Given the description of an element on the screen output the (x, y) to click on. 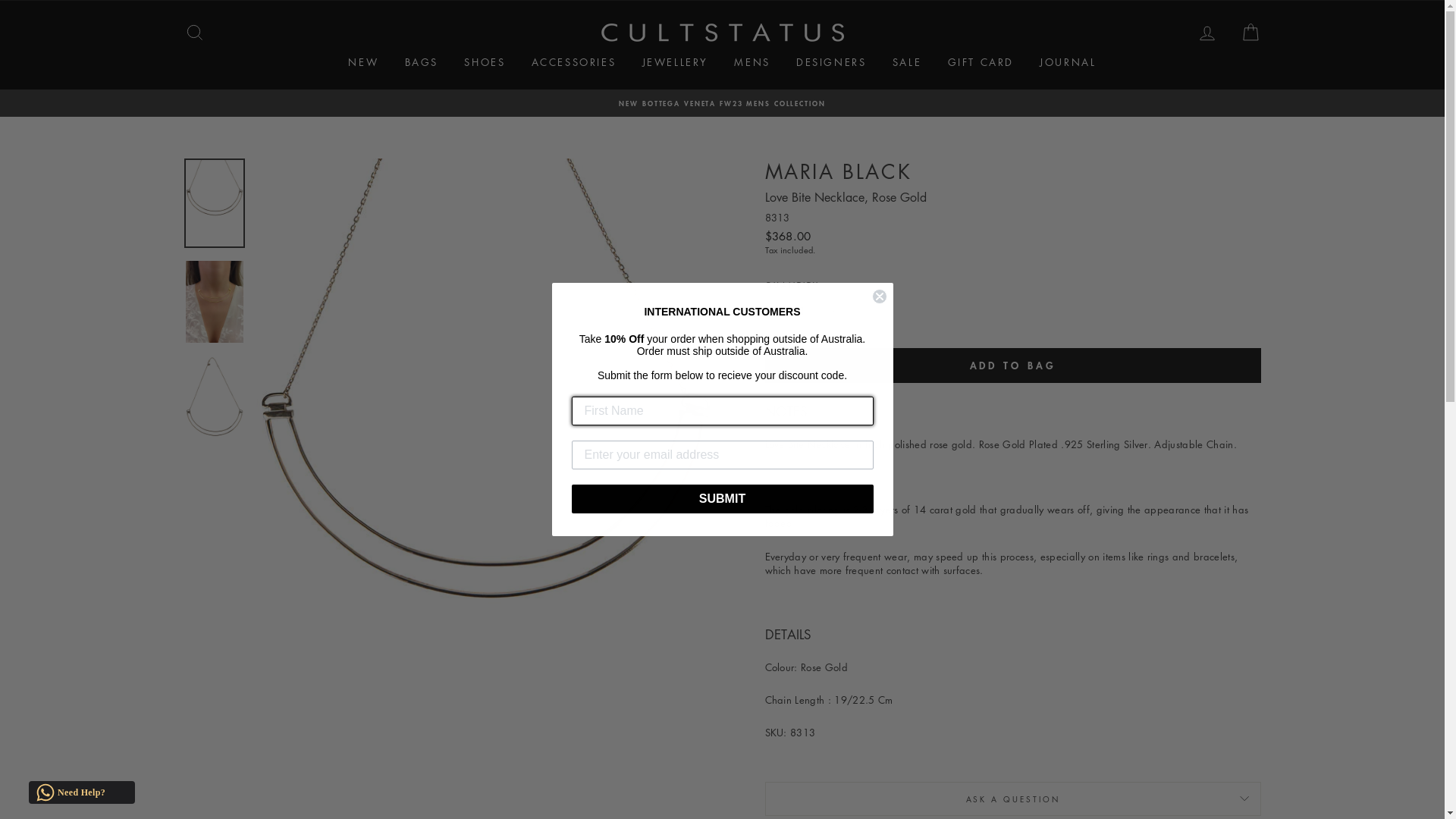
LOG IN Element type: text (1206, 32)
ADD TO BAG Element type: text (1012, 365)
MARIA BLACK Element type: text (837, 171)
CART Element type: text (1249, 32)
DESIGNERS Element type: text (830, 61)
SUBMIT Element type: text (722, 498)
Skip to content Element type: text (0, 0)
GIFT CARD Element type: text (980, 61)
MENS Element type: text (751, 61)
Submit Element type: text (23, 13)
SALE Element type: text (906, 61)
JEWELLERY Element type: text (674, 61)
BAGS Element type: text (421, 61)
NEW Element type: text (362, 61)
+ Element type: text (832, 310)
JOURNAL Element type: text (1067, 61)
ACCESSORIES Element type: text (573, 61)
SHOES Element type: text (484, 61)
SEARCH Element type: text (193, 32)
ASK A QUESTION Element type: text (1012, 798)
NEW BOTTEGA VENETA FW23 MENS COLLECTION Element type: text (722, 102)
